Given the description of an element on the screen output the (x, y) to click on. 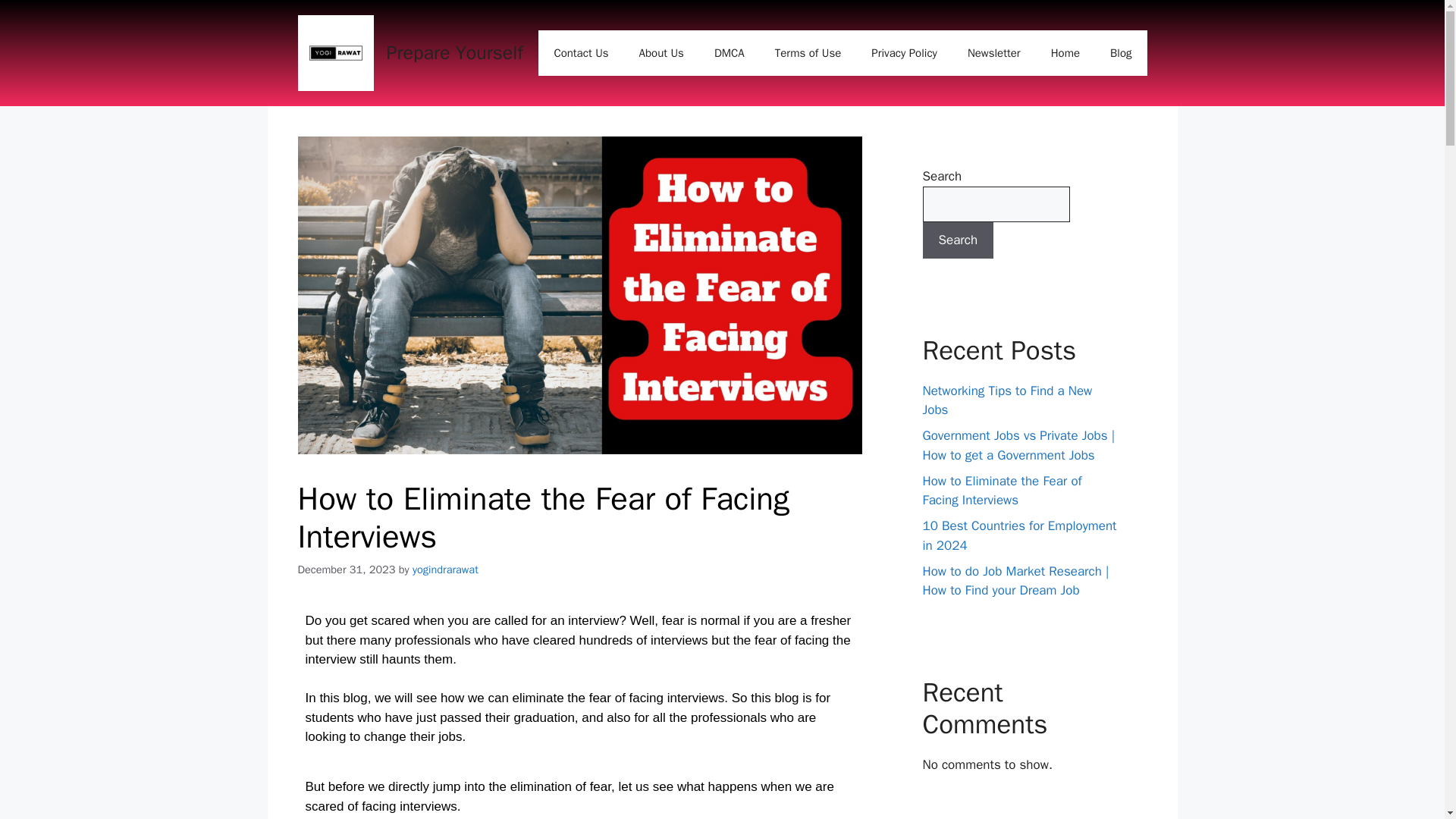
yogindrarawat (445, 569)
Search (956, 239)
Newsletter (993, 53)
Prepare Yourself (454, 52)
View all posts by yogindrarawat (445, 569)
Networking Tips to Find a New Jobs (1006, 399)
Privacy Policy (904, 53)
10 Best Countries for Employment in 2024 (1018, 535)
Home (1064, 53)
DMCA (729, 53)
Contact Us (580, 53)
Terms of Use (808, 53)
Blog (1120, 53)
How to Eliminate the Fear of Facing Interviews (1001, 490)
About Us (661, 53)
